Given the description of an element on the screen output the (x, y) to click on. 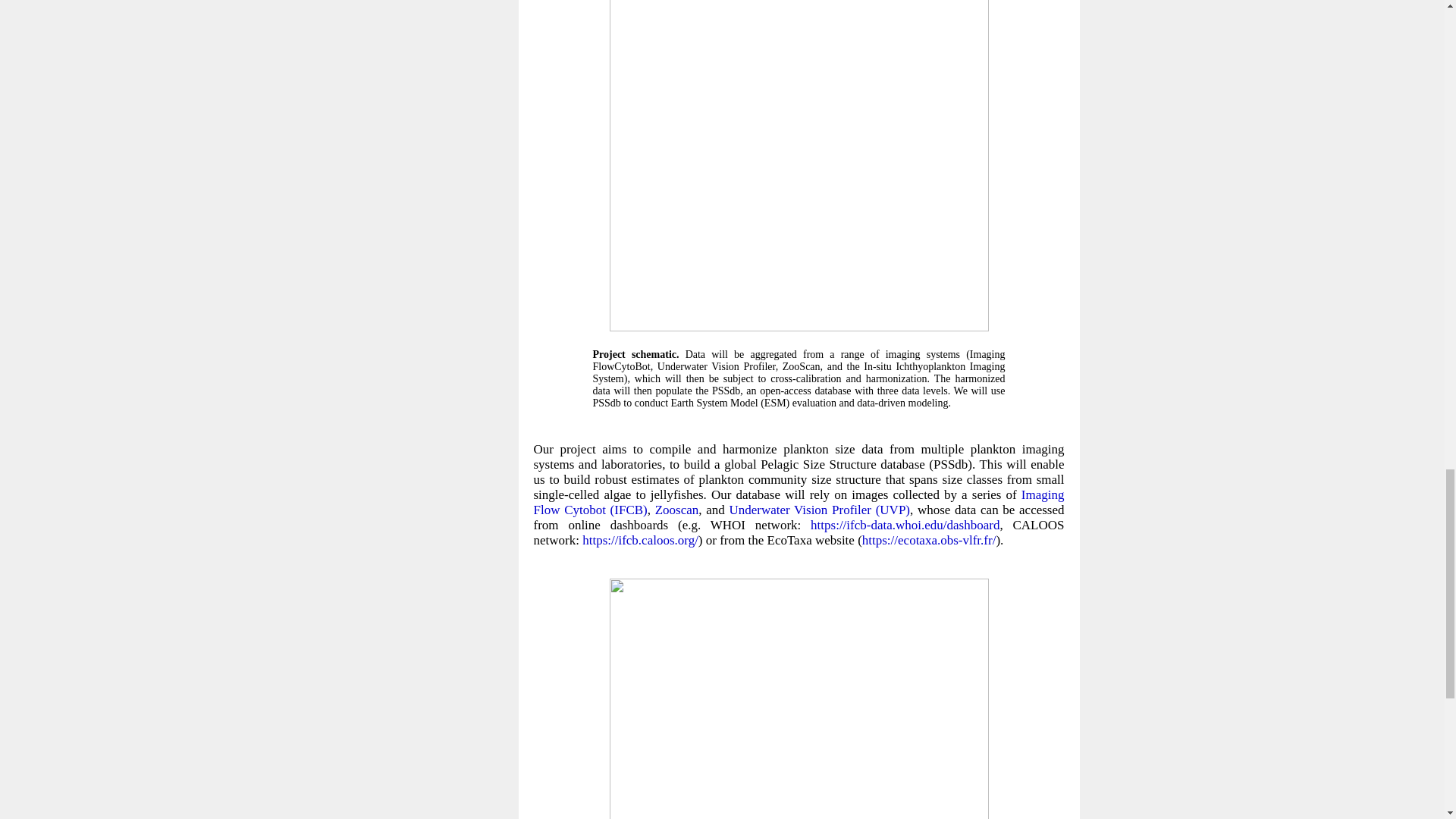
click to zoom (799, 327)
Zooscan (676, 509)
